Given the description of an element on the screen output the (x, y) to click on. 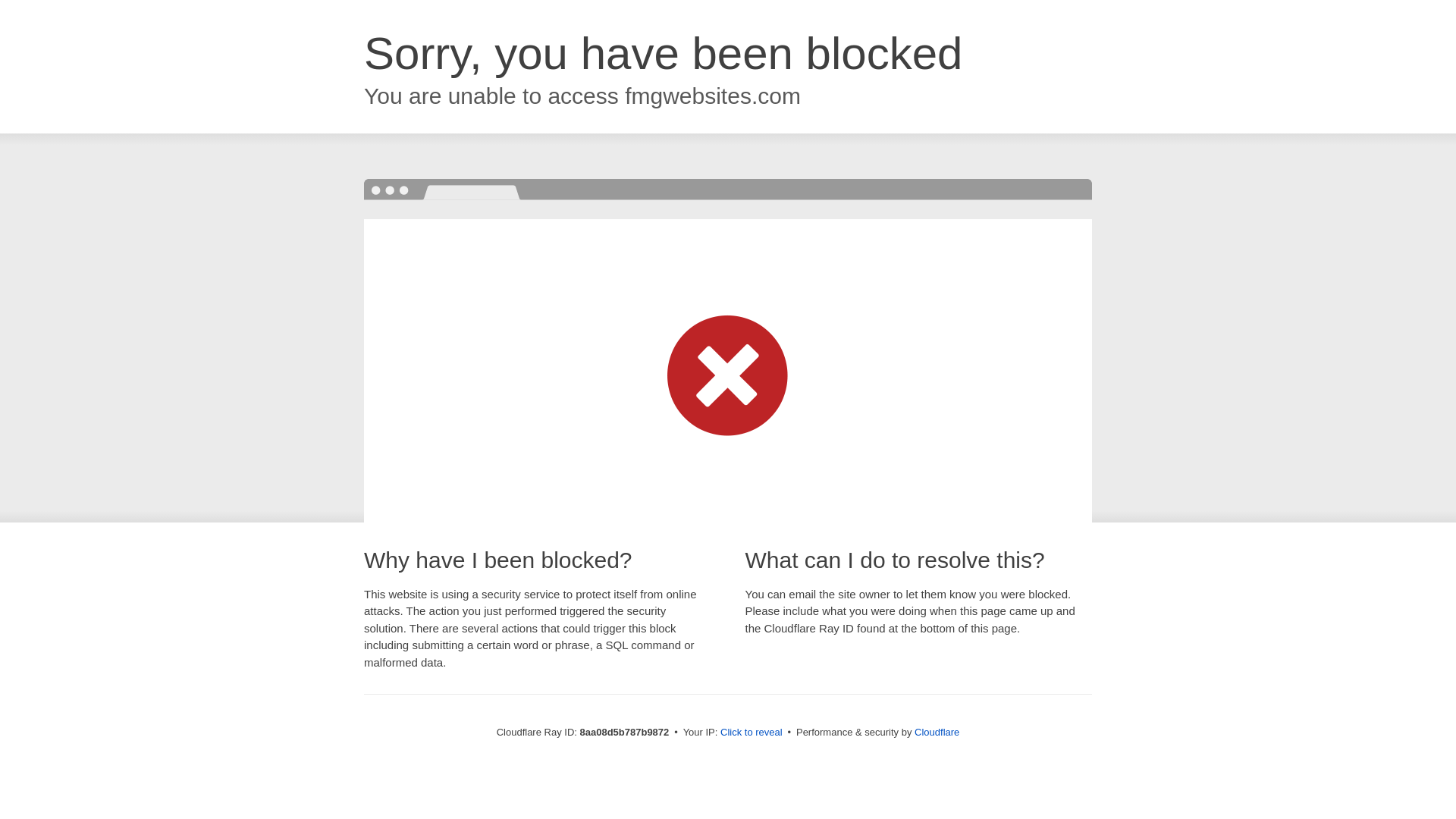
Click to reveal (751, 732)
Cloudflare (936, 731)
